Given the description of an element on the screen output the (x, y) to click on. 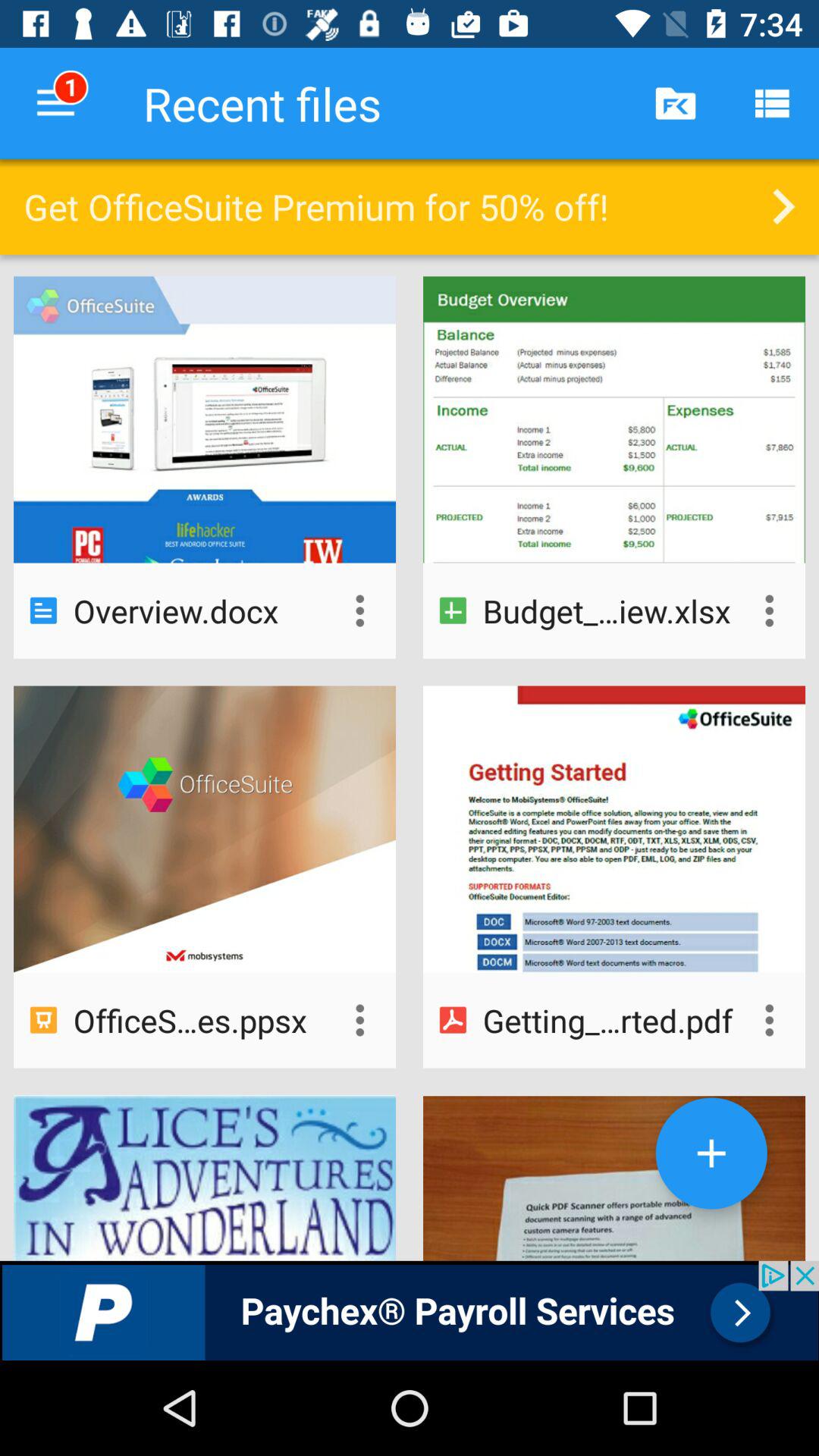
click to go to paychex payroll services (409, 1310)
